Given the description of an element on the screen output the (x, y) to click on. 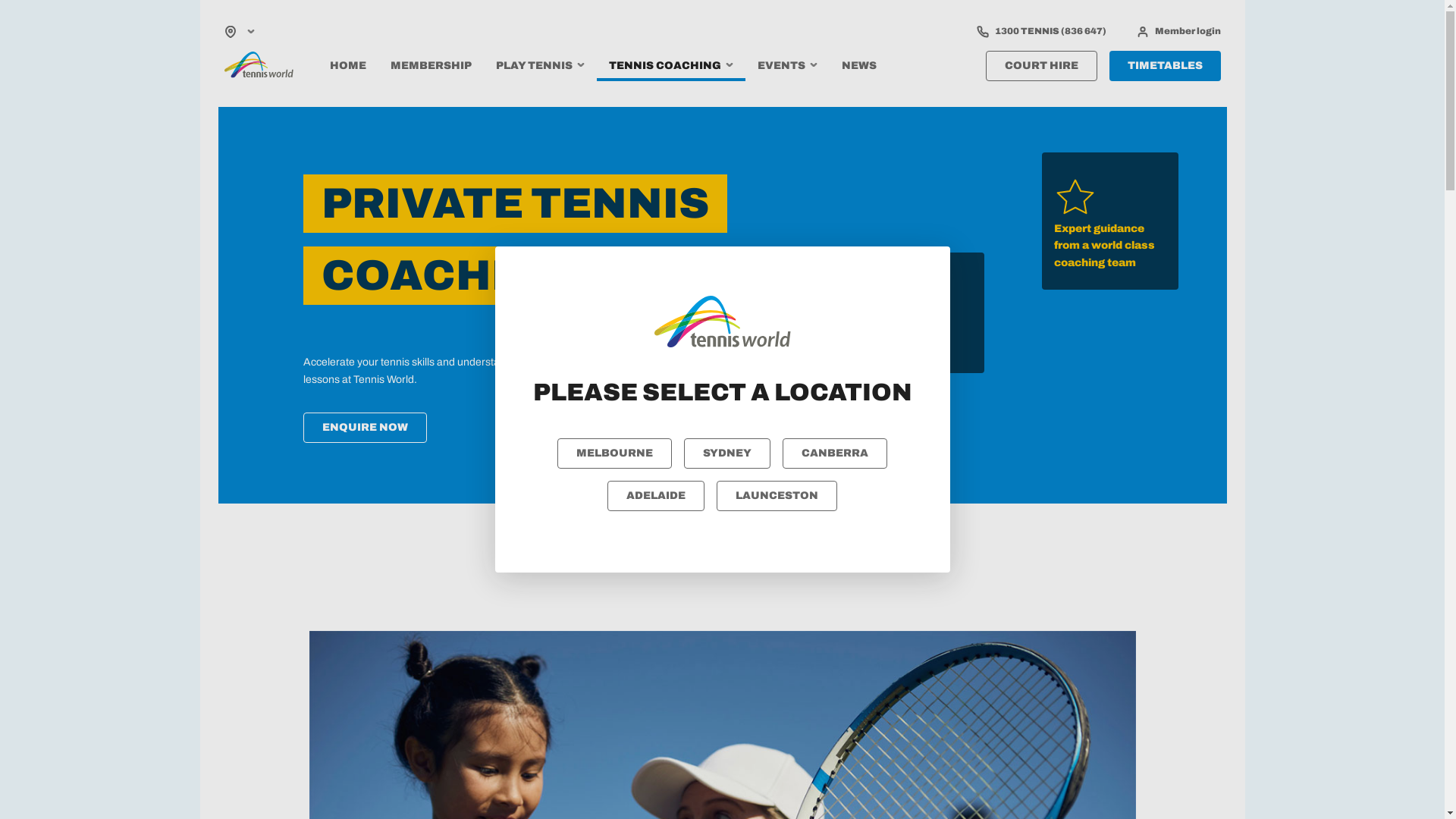
1300 TENNIS (836 647) Element type: text (1041, 31)
COURT HIRE Element type: text (1041, 65)
CANBERRA Element type: text (834, 453)
Member login Element type: text (1177, 31)
MELBOURNE Element type: text (614, 453)
HOME Element type: text (346, 65)
ENQUIRE NOW Element type: text (364, 427)
ADELAIDE Element type: text (655, 495)
EVENTS Element type: text (786, 65)
PLAY TENNIS Element type: text (539, 65)
SYDNEY Element type: text (727, 453)
LAUNCESTON Element type: text (776, 495)
NEWS Element type: text (858, 65)
MEMBERSHIP Element type: text (430, 65)
TIMETABLES Element type: text (1164, 65)
Tennis World Element type: hover (258, 65)
TENNIS COACHING Element type: text (670, 65)
